Given the description of an element on the screen output the (x, y) to click on. 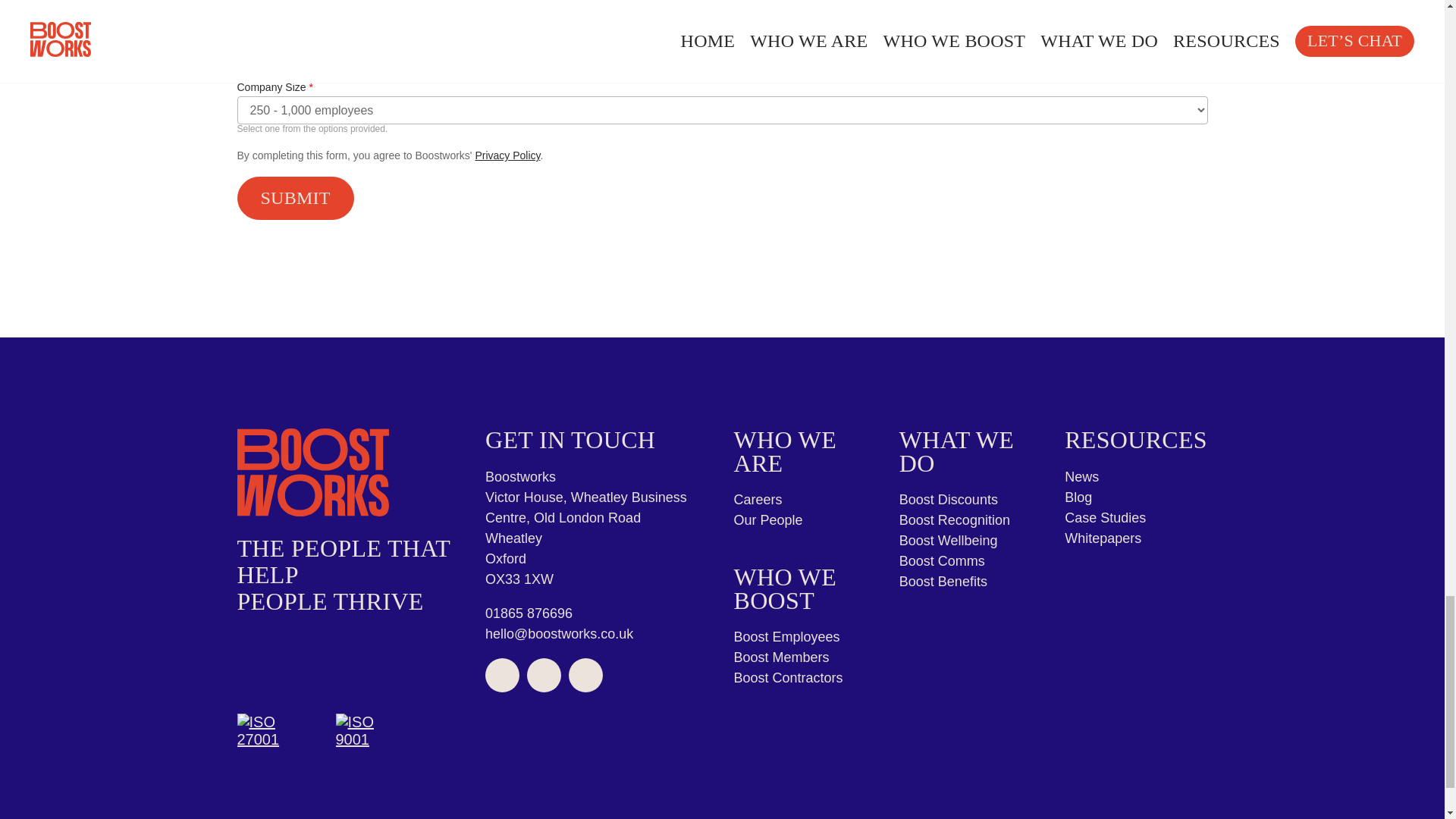
Home (311, 525)
LinkedIn (501, 675)
Twitter (543, 675)
Instagram (585, 675)
